Given the description of an element on the screen output the (x, y) to click on. 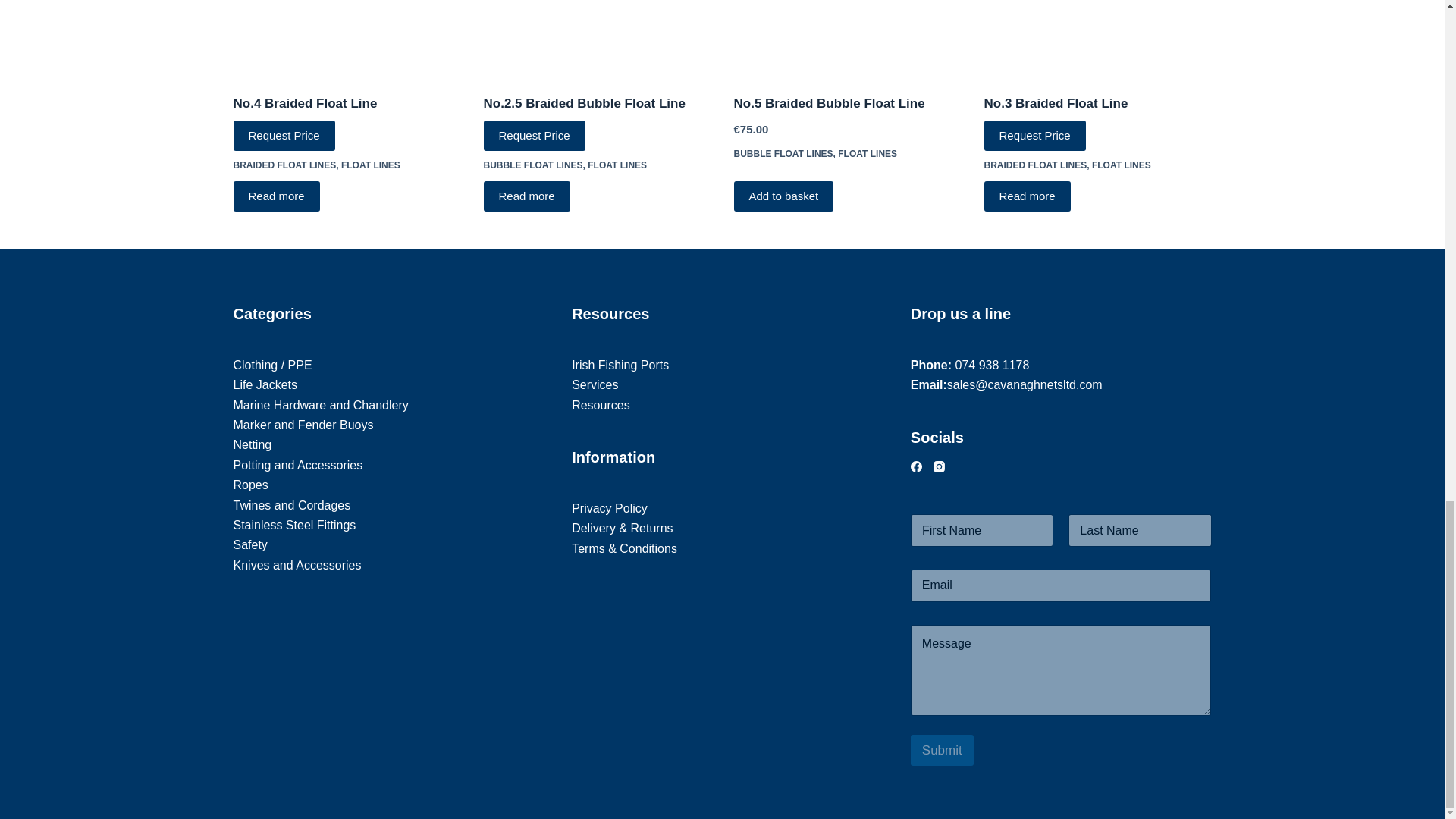
bubblefloat.jpg (597, 37)
BRAIDEDFLOATLINES (346, 37)
bubblefloat.jpg (846, 37)
BRAIDEDFLOATLINES (1097, 37)
